Given the description of an element on the screen output the (x, y) to click on. 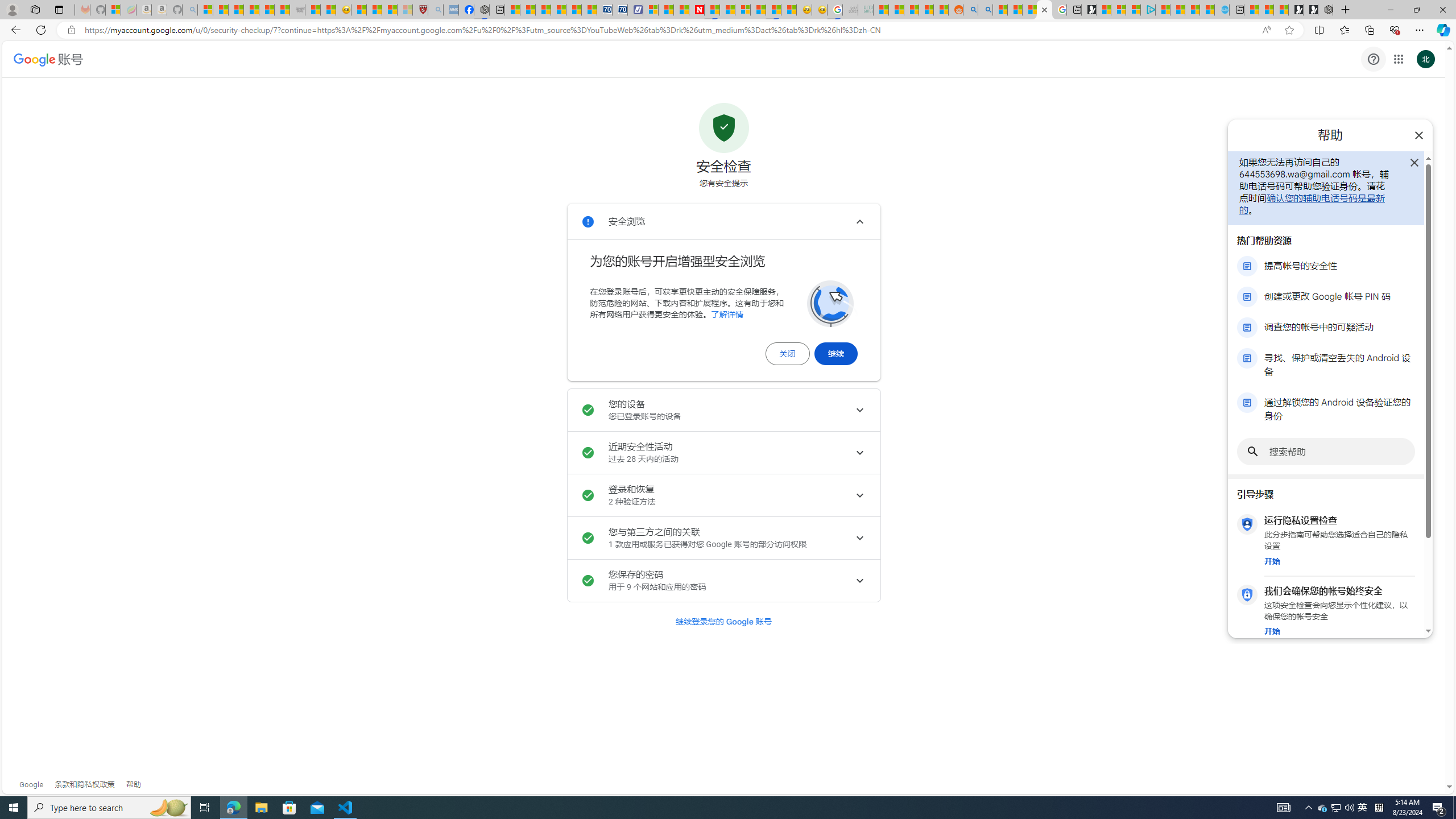
12 Popular Science Lies that Must be Corrected - Sleeping (405, 9)
